Given the description of an element on the screen output the (x, y) to click on. 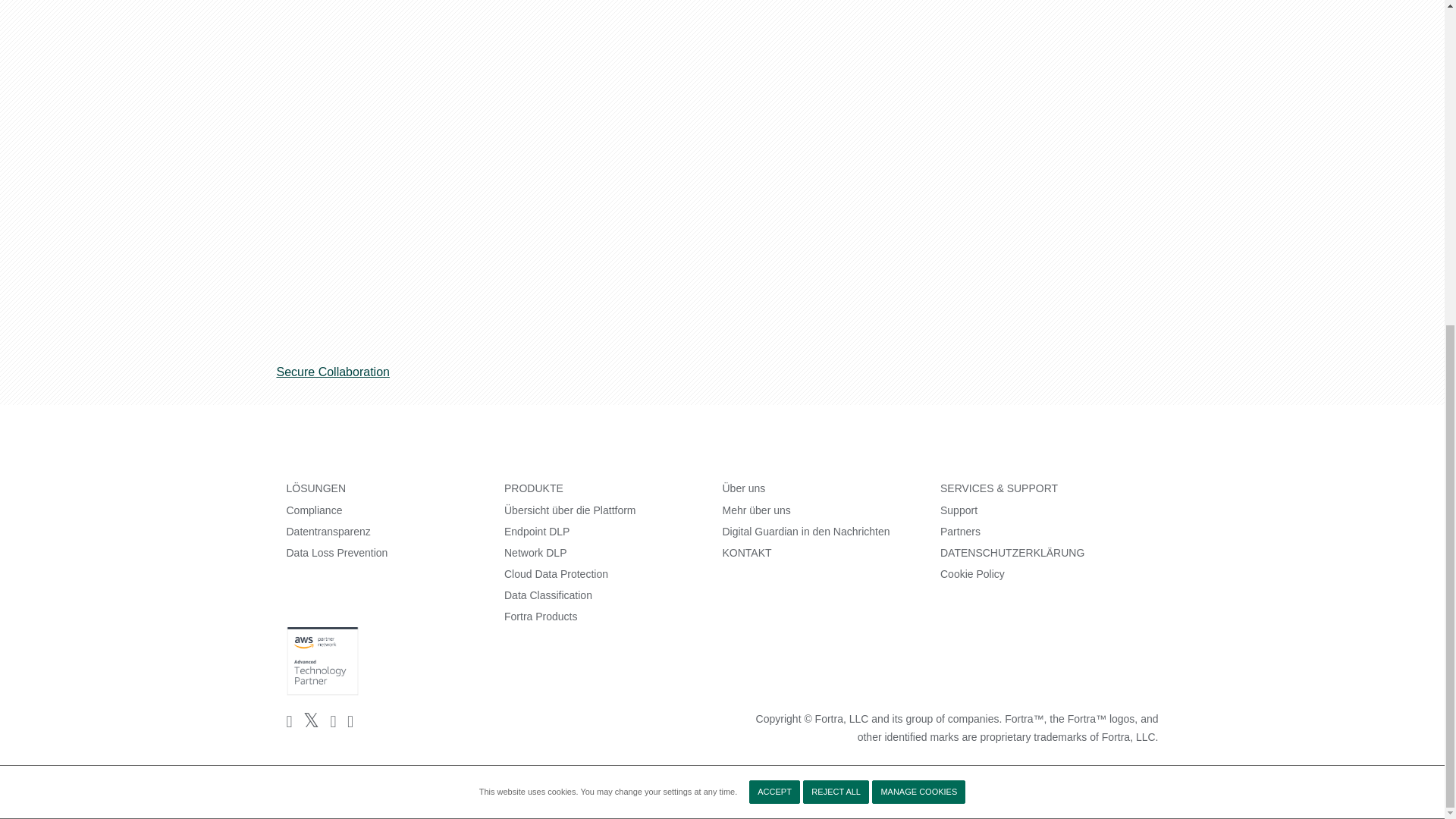
REJECT ALL (836, 258)
MANAGE COOKIES (918, 258)
ACCEPT (774, 258)
